Given the description of an element on the screen output the (x, y) to click on. 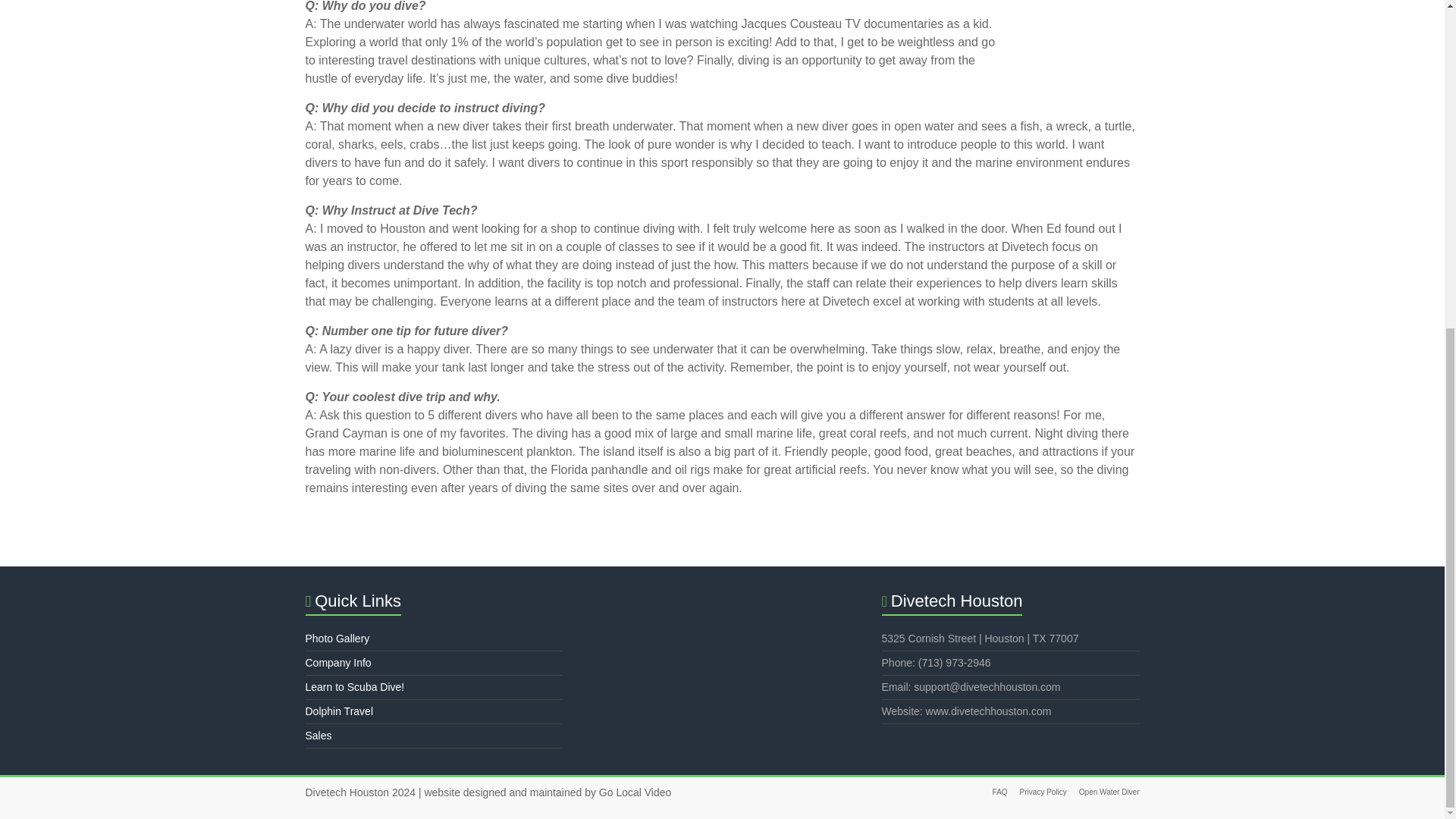
Sales (317, 735)
Company Info (337, 662)
Photo Gallery (336, 638)
Dolphin Travel (338, 711)
Open Water Diver (1103, 792)
FAQ (993, 792)
Privacy Policy (1037, 792)
Go Local Video (634, 792)
Tim Chauvin (1079, 44)
Learn to Scuba Dive! (354, 686)
